Given the description of an element on the screen output the (x, y) to click on. 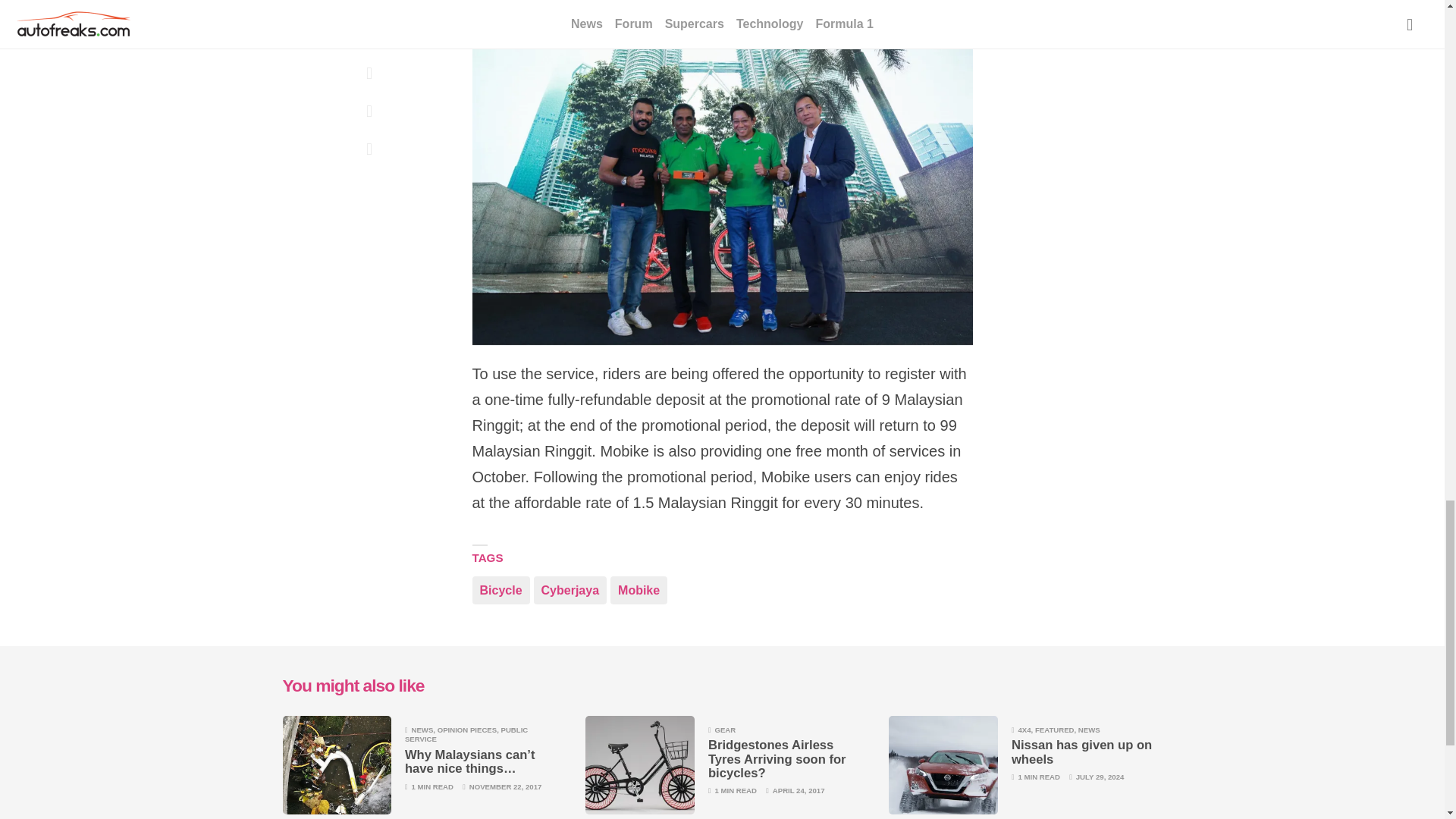
Cyberjaya (570, 590)
NEWS (421, 729)
PUBLIC SERVICE (465, 733)
NEWS (1089, 729)
Bridgestones Airless Tyres Arriving soon for bicycles? (776, 758)
Bicycle (500, 590)
FEATURED (1054, 729)
4X4 (1023, 729)
Mobike (638, 590)
Nissan has given up on wheels (1081, 751)
OPINION PIECES (467, 729)
GEAR (724, 729)
